Given the description of an element on the screen output the (x, y) to click on. 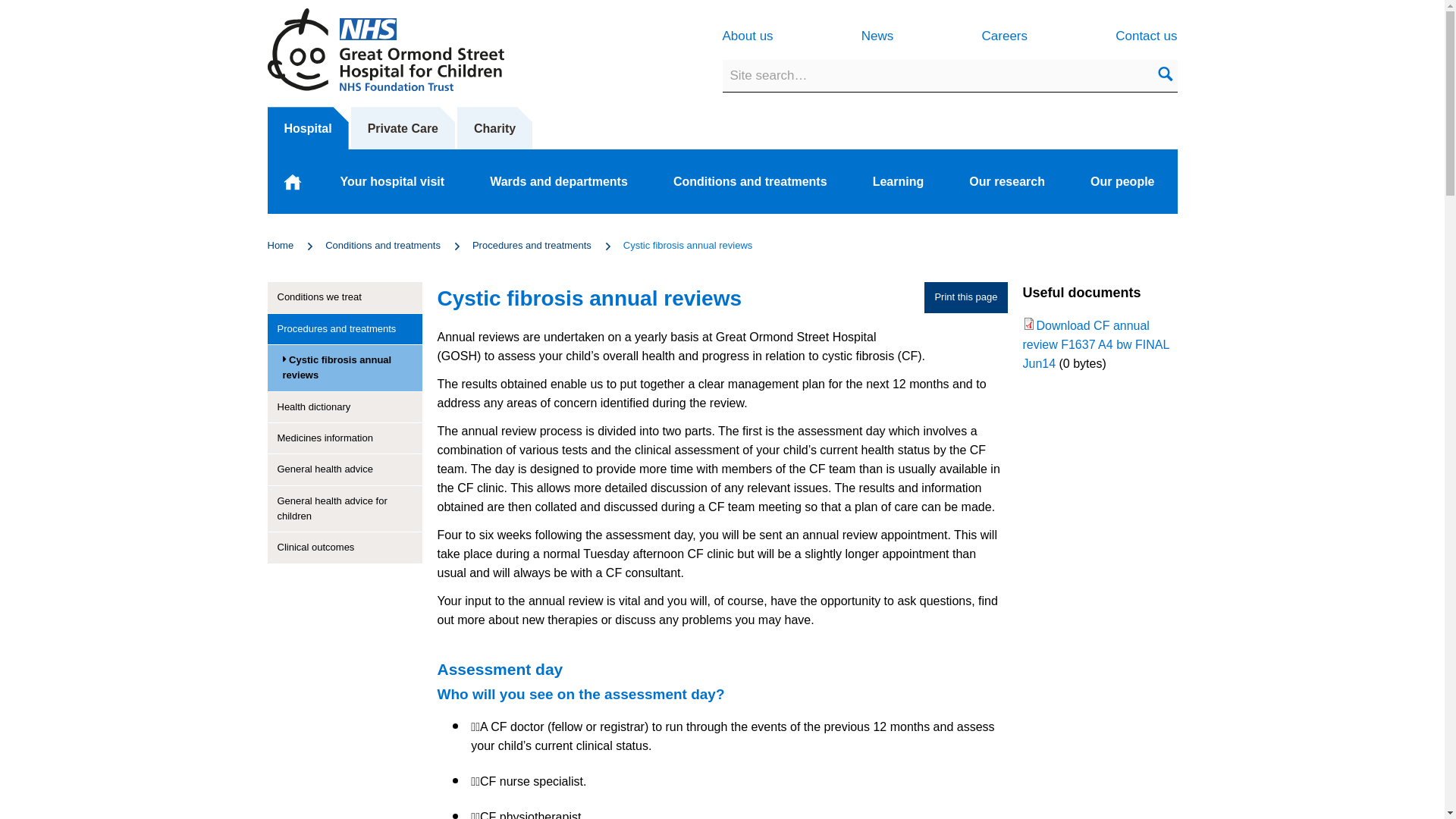
Private Care (402, 128)
News (877, 36)
Charity (494, 128)
Careers (1004, 36)
Search (1164, 76)
Hospital (306, 128)
Contact us (1145, 36)
About us (747, 36)
